Given the description of an element on the screen output the (x, y) to click on. 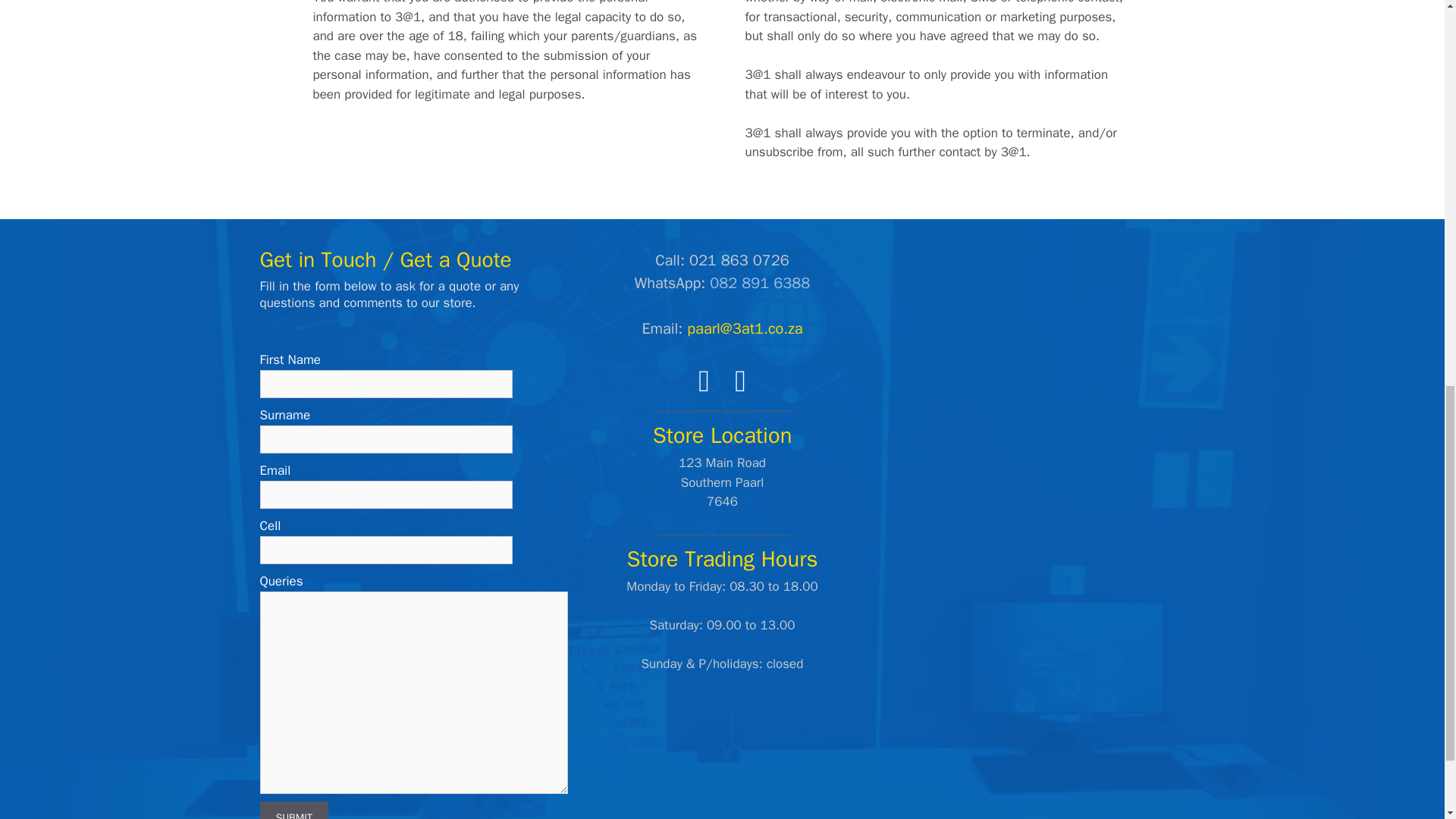
3at1 Paarl (1030, 362)
082 891 6388 (759, 282)
Submit (293, 810)
Submit (293, 810)
